Given the description of an element on the screen output the (x, y) to click on. 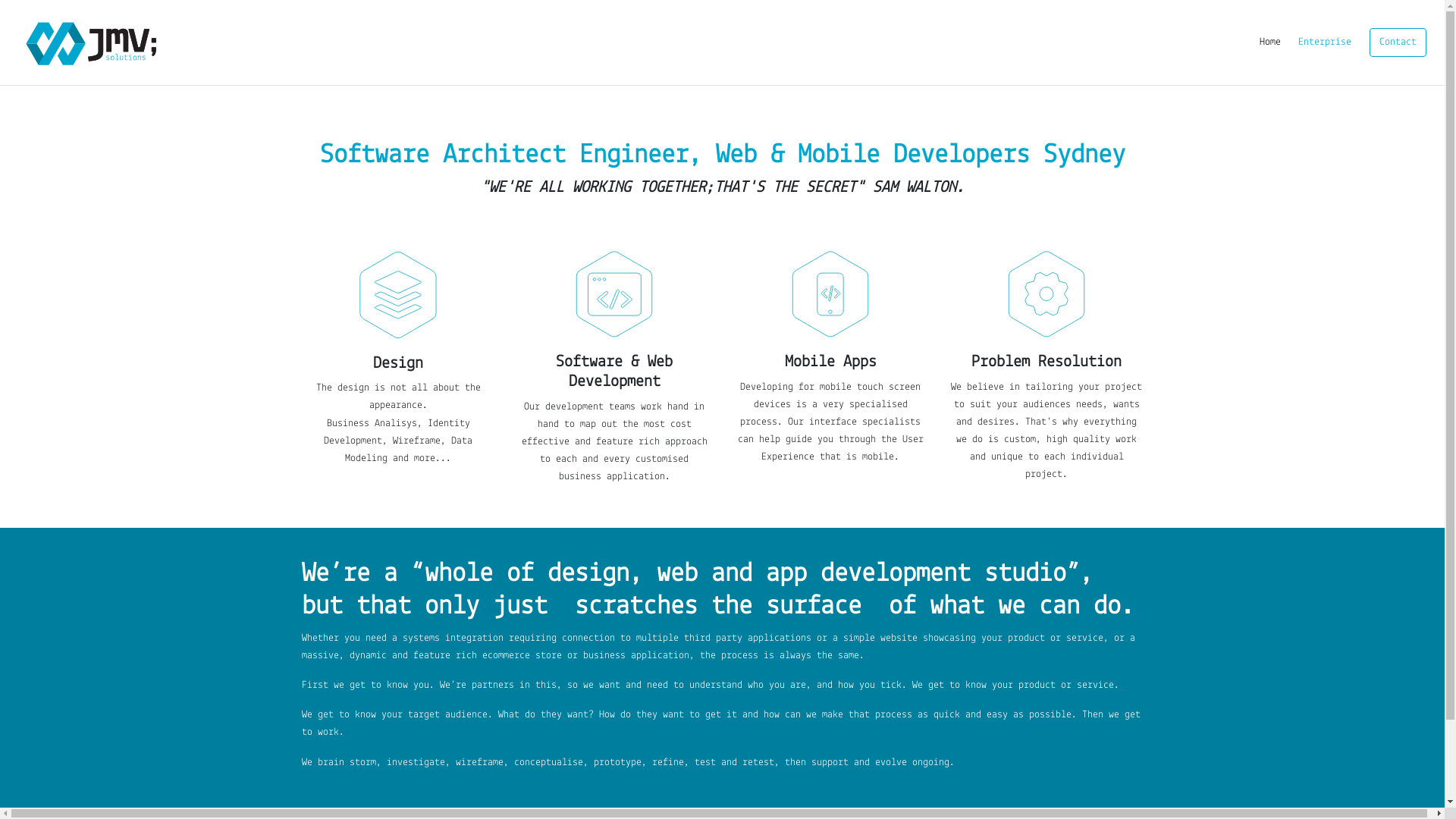
Enterprise Element type: text (1324, 41)
Contact Element type: text (1397, 42)
Home Element type: text (1269, 41)
